Given the description of an element on the screen output the (x, y) to click on. 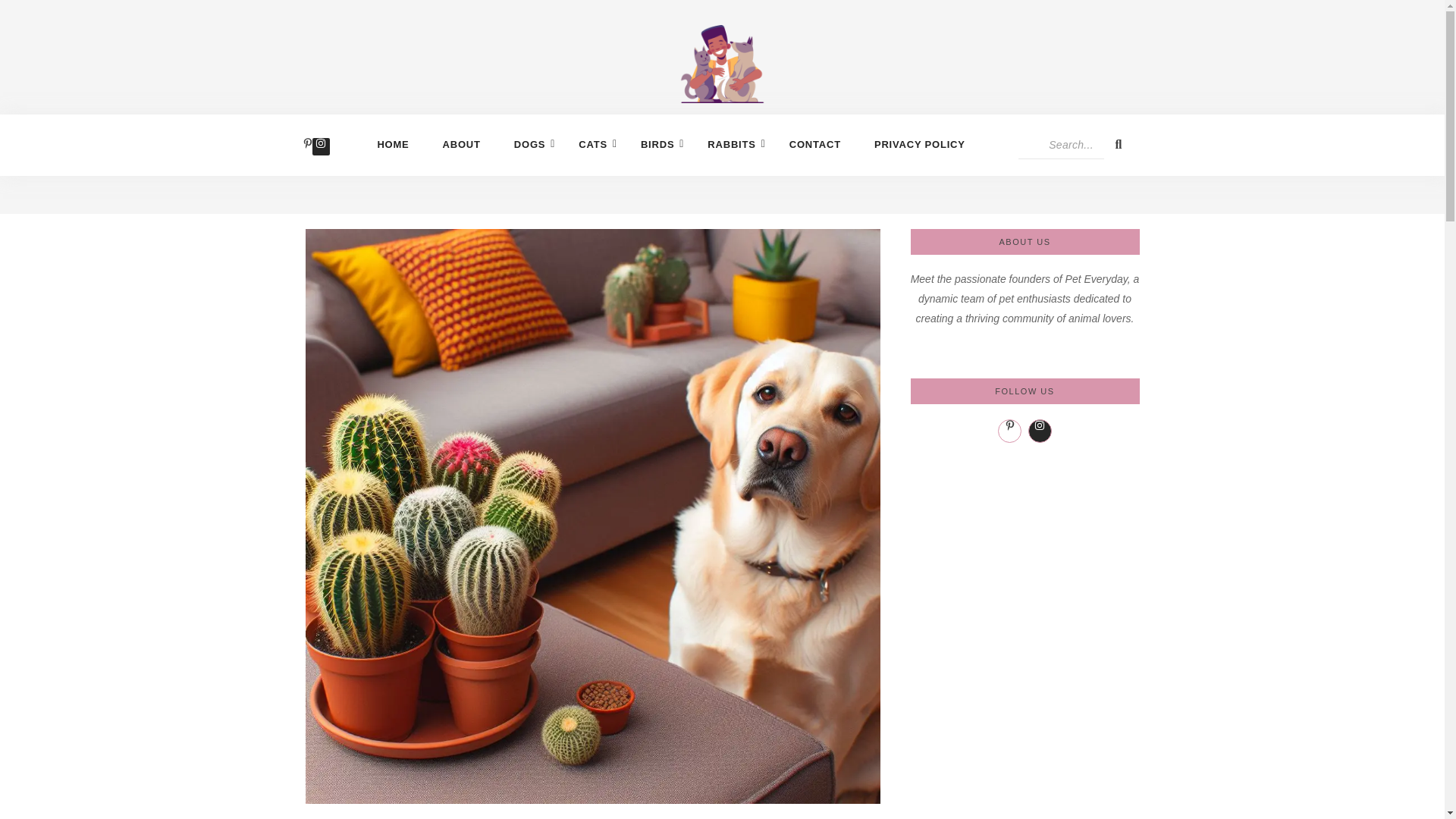
HOME (392, 144)
ABOUT (461, 144)
PRIVACY POLICY (919, 144)
CATS (592, 144)
CONTACT (815, 144)
Search (1060, 144)
RABBITS (731, 144)
Pinterest-p (307, 146)
DOGS (529, 144)
Instagram (321, 146)
BIRDS (656, 144)
